Given the description of an element on the screen output the (x, y) to click on. 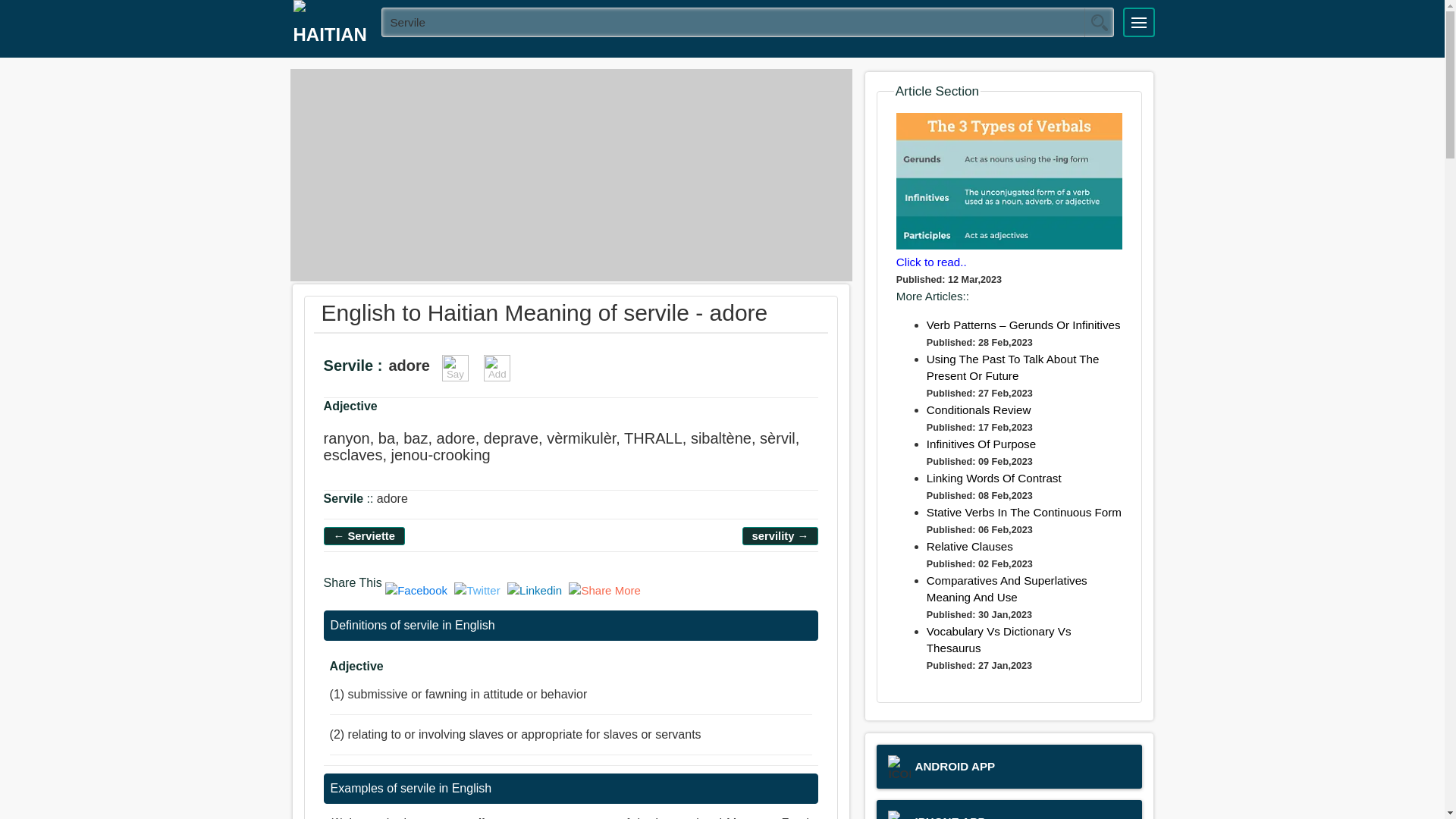
Twitter (478, 590)
English to Haitian meaning of serviette (364, 535)
Linkedin (536, 590)
HAITIAN (330, 28)
servile (747, 21)
Facebook (418, 590)
Add To Favorites (497, 367)
Advertisement (570, 174)
Search (1098, 22)
English to Haitian meaning of servility (780, 535)
More Share (604, 590)
Say The Word (455, 367)
